Given the description of an element on the screen output the (x, y) to click on. 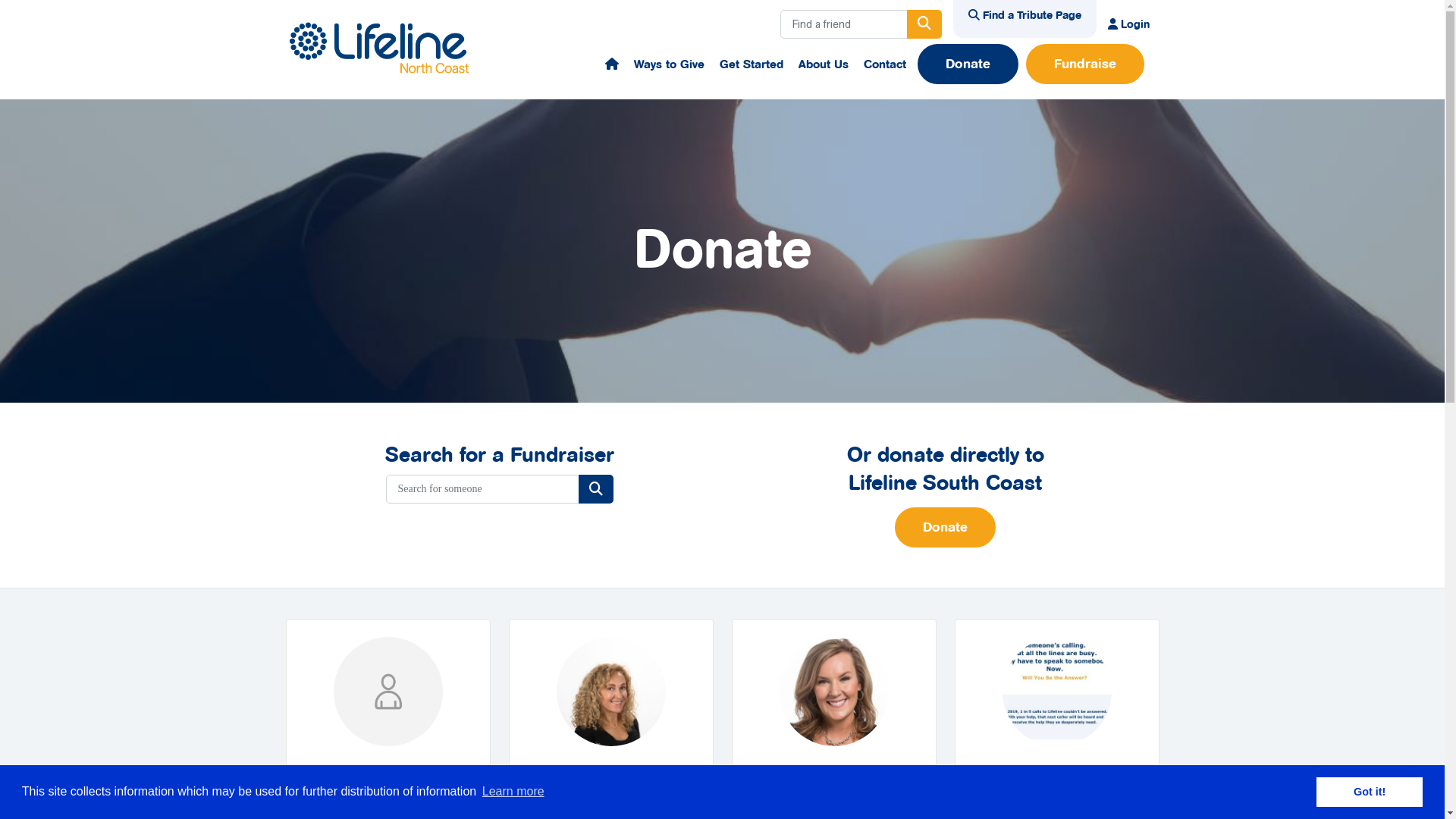
Learn more Element type: text (513, 791)
Got it! Element type: text (1369, 791)
Contact Element type: text (884, 63)
Donate Element type: text (967, 63)
About Us Element type: text (822, 63)
Get Started Element type: text (750, 63)
Login Element type: text (1127, 23)
Ways to Give Element type: text (669, 63)
Fundraise Element type: text (1084, 63)
Donate Element type: text (944, 527)
